Given the description of an element on the screen output the (x, y) to click on. 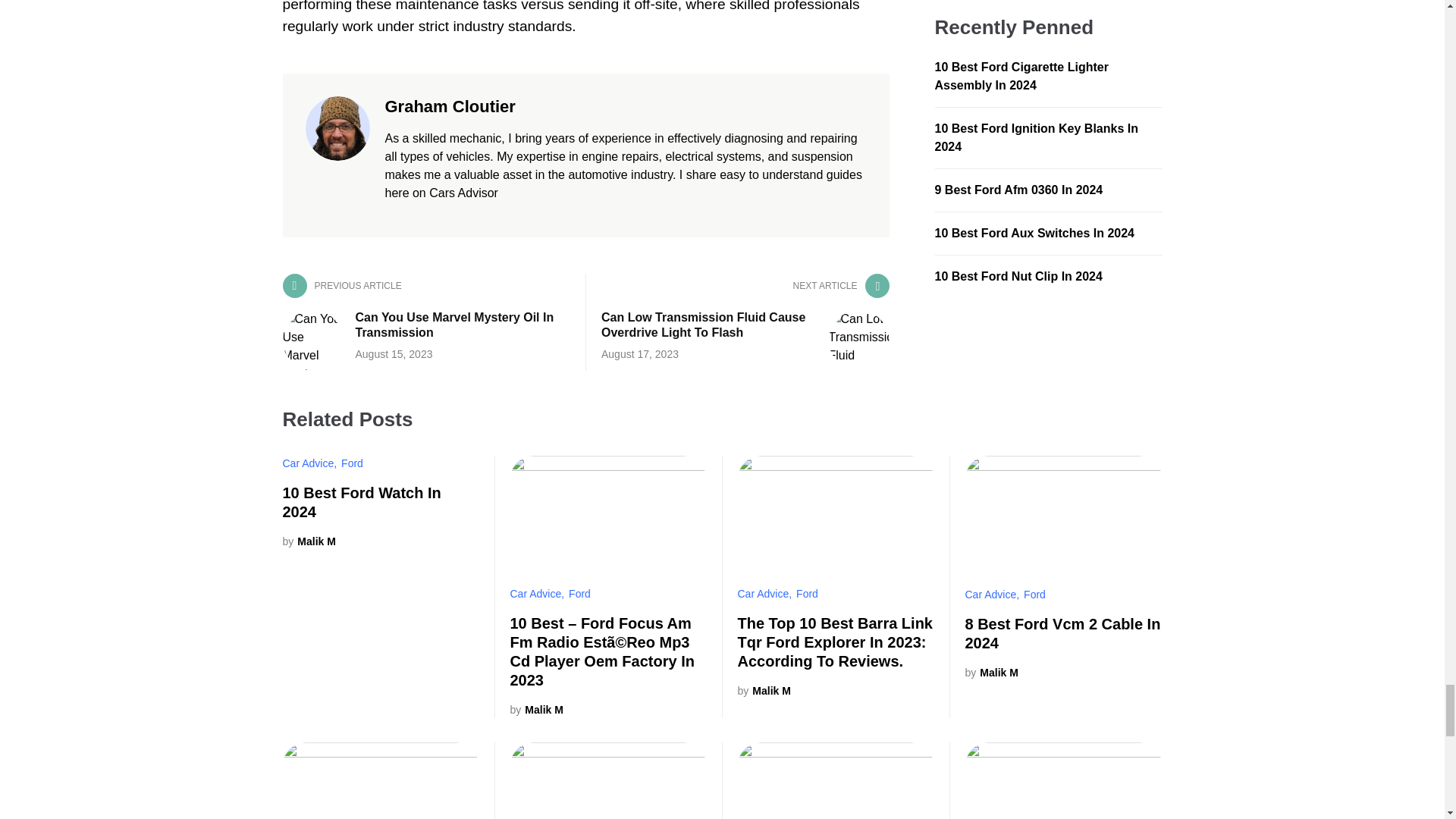
View all posts by Malik M (990, 672)
View all posts by Malik M (763, 691)
View all posts by Malik M (308, 541)
View all posts by Malik M (535, 709)
